Given the description of an element on the screen output the (x, y) to click on. 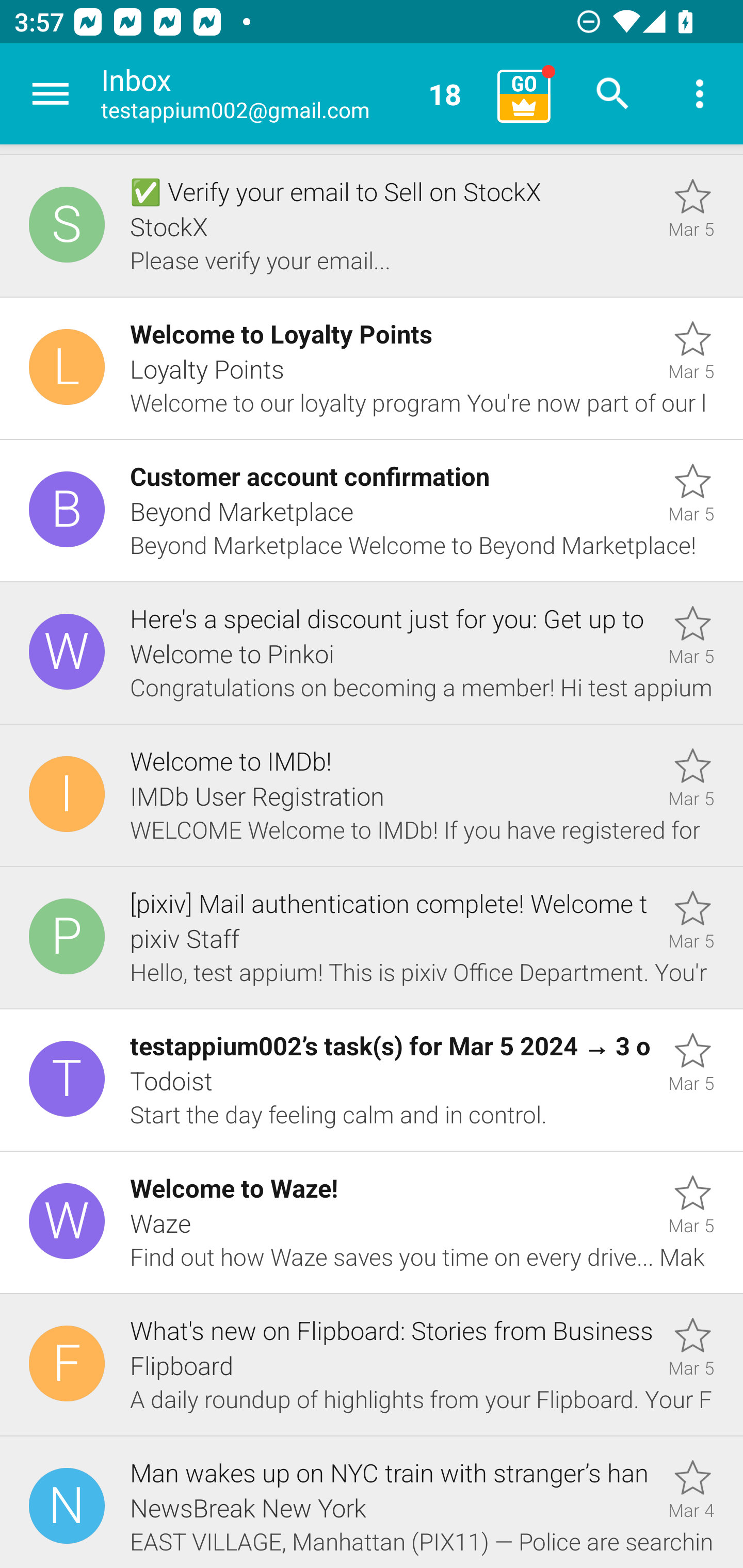
Navigate up (50, 93)
Inbox testappium002@gmail.com 18 (291, 93)
Search (612, 93)
More options (699, 93)
